Given the description of an element on the screen output the (x, y) to click on. 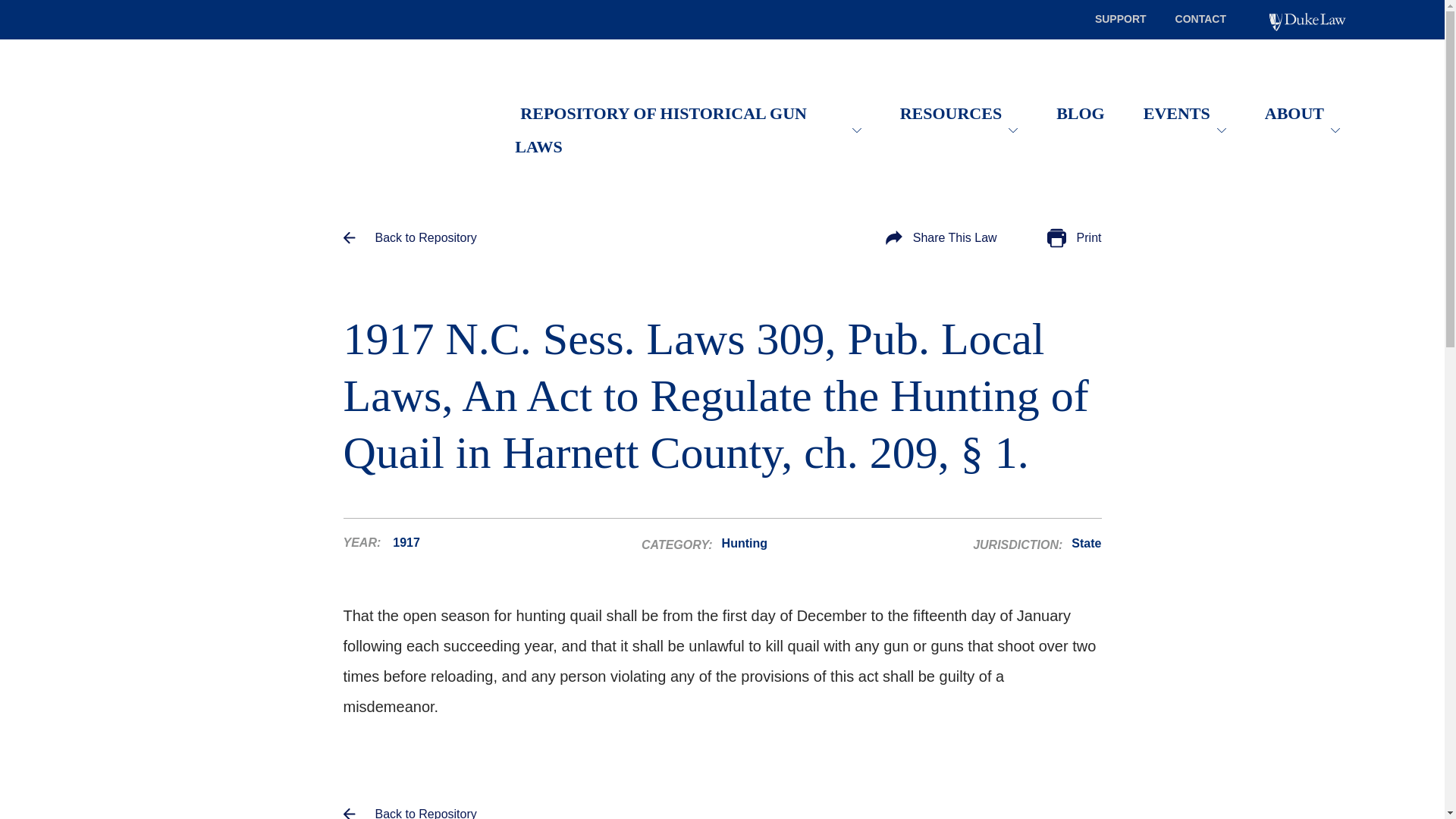
CONTACT (1199, 19)
REPOSITORY OF HISTORICAL GUN LAWS (660, 129)
BLOG (1080, 112)
EVENTS (1184, 112)
SUPPORT (1120, 19)
ABOUT (1302, 112)
RESOURCES (959, 112)
